Given the description of an element on the screen output the (x, y) to click on. 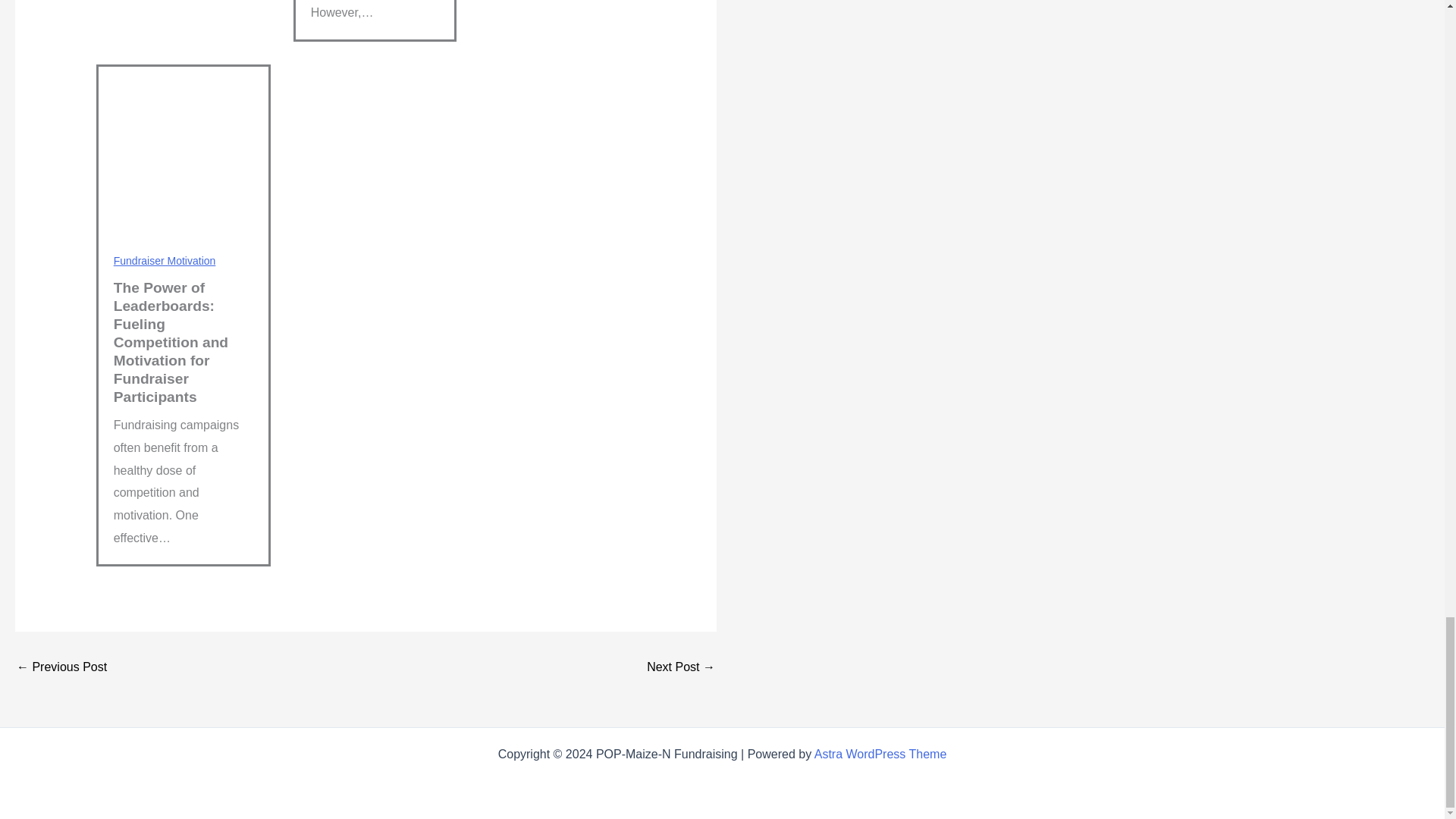
Fundraiser Motivation (164, 260)
Astra WordPress Theme (880, 753)
